Given the description of an element on the screen output the (x, y) to click on. 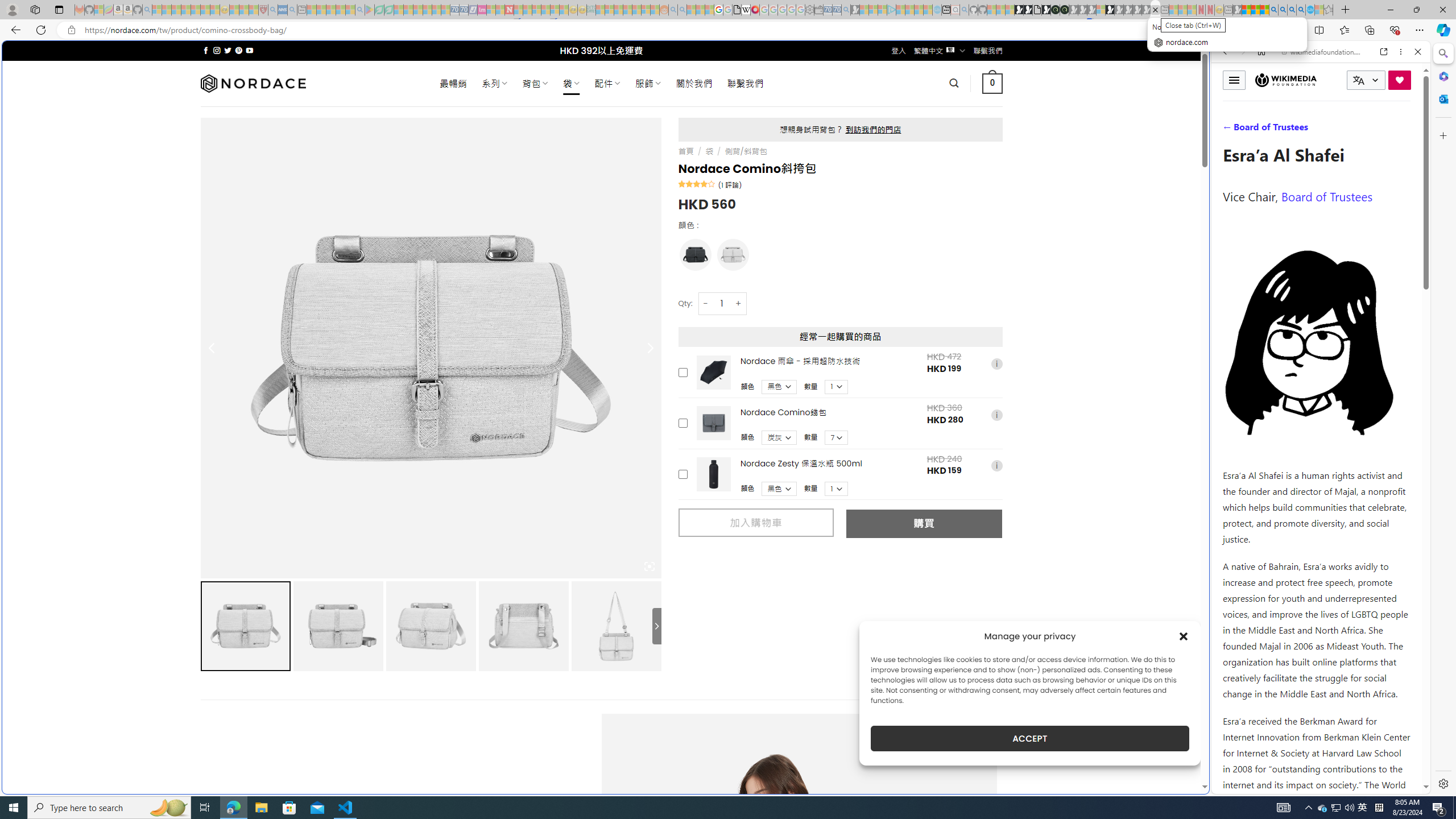
14 Common Myths Debunked By Scientific Facts - Sleeping (527, 9)
Jobs - lastminute.com Investor Portal - Sleeping (482, 9)
MSN - Sleeping (1236, 9)
New tab - Sleeping (1227, 9)
Bing Real Estate - Home sales and rental listings - Sleeping (846, 9)
The Weather Channel - MSN - Sleeping (175, 9)
Home | Sky Blue Bikes - Sky Blue Bikes - Sleeping (936, 9)
Class: iconic-woothumbs-fullscreen (649, 566)
Search the web (1326, 78)
